Given the description of an element on the screen output the (x, y) to click on. 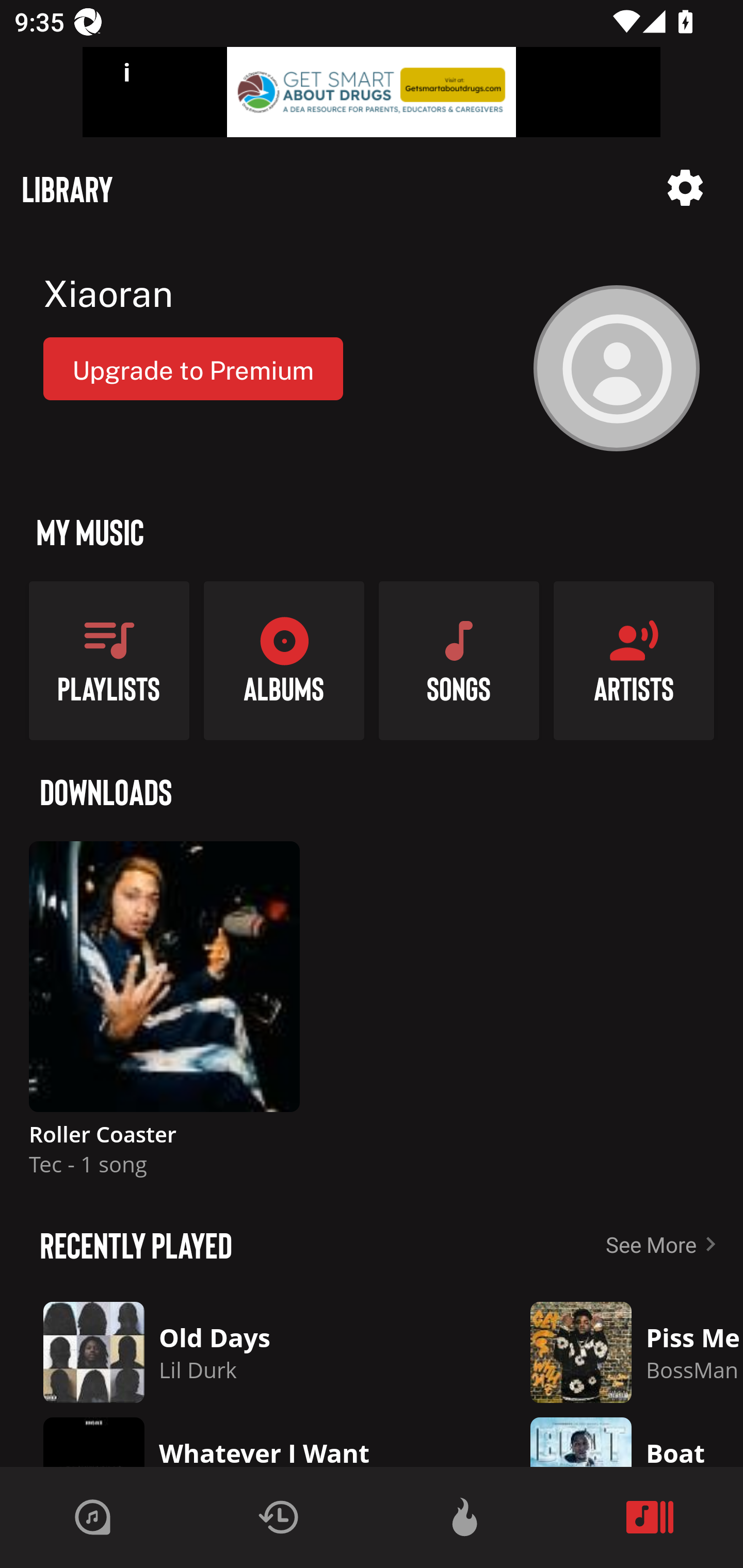
Description (684, 188)
Upgrade to Premium (193, 368)
Playlists (108, 660)
Albums (283, 660)
Songs (458, 660)
Artists (633, 660)
Description Roller Coaster Tec - 1 song (164, 1017)
See More (664, 1244)
Description Old Days Lil Durk (250, 1352)
Description Piss Me Off BossMan Dlow (622, 1352)
